Given the description of an element on the screen output the (x, y) to click on. 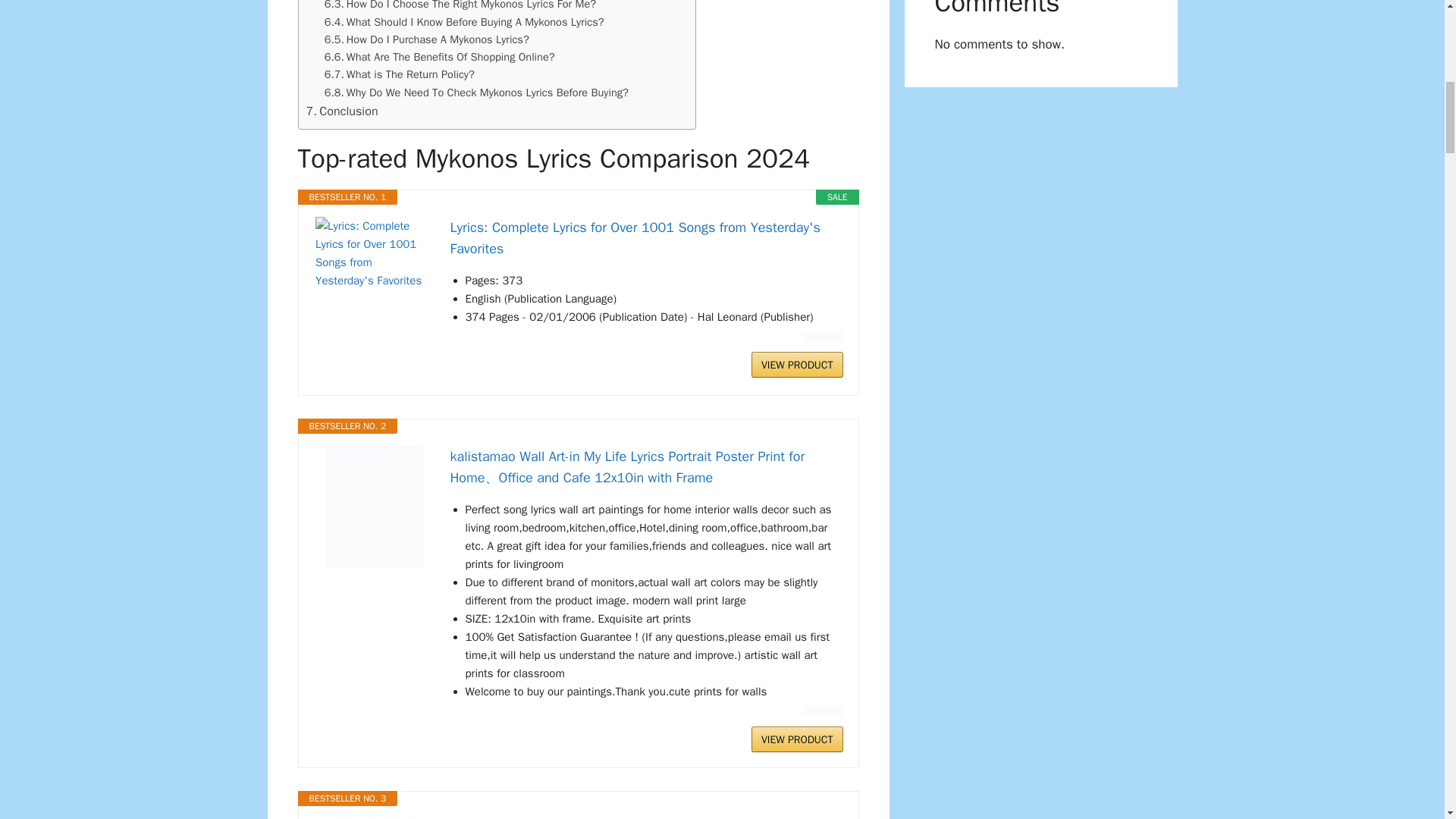
What Are The Benefits Of Shopping Online? (439, 57)
How Do I Choose The Right Mykonos Lyrics For Me? (459, 6)
What Should I Know Before Buying A Mykonos Lyrics? (464, 22)
What is The Return Policy? (399, 74)
How Do I Purchase A Mykonos Lyrics? (426, 39)
